Given the description of an element on the screen output the (x, y) to click on. 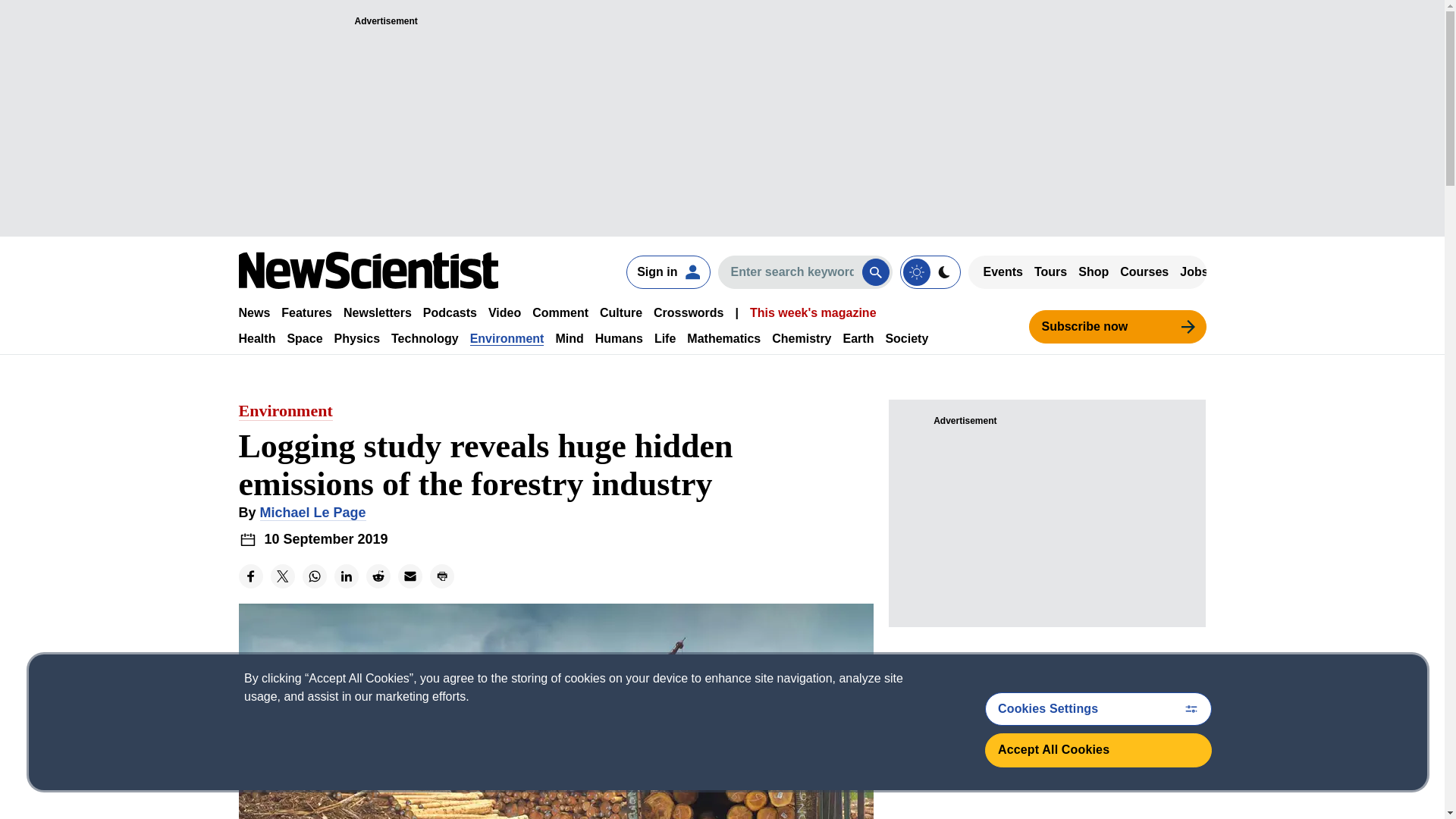
Mind (568, 338)
Calendar icon (247, 538)
Podcasts (450, 313)
Humans (619, 338)
Comment (560, 313)
News (253, 313)
Crosswords (688, 313)
Shop (1093, 272)
Sign In page link (668, 272)
Jobs (1193, 272)
Events (1002, 272)
This week's magazine (812, 313)
Earth (859, 338)
Newsletters (377, 313)
Subscribe now (1116, 326)
